Given the description of an element on the screen output the (x, y) to click on. 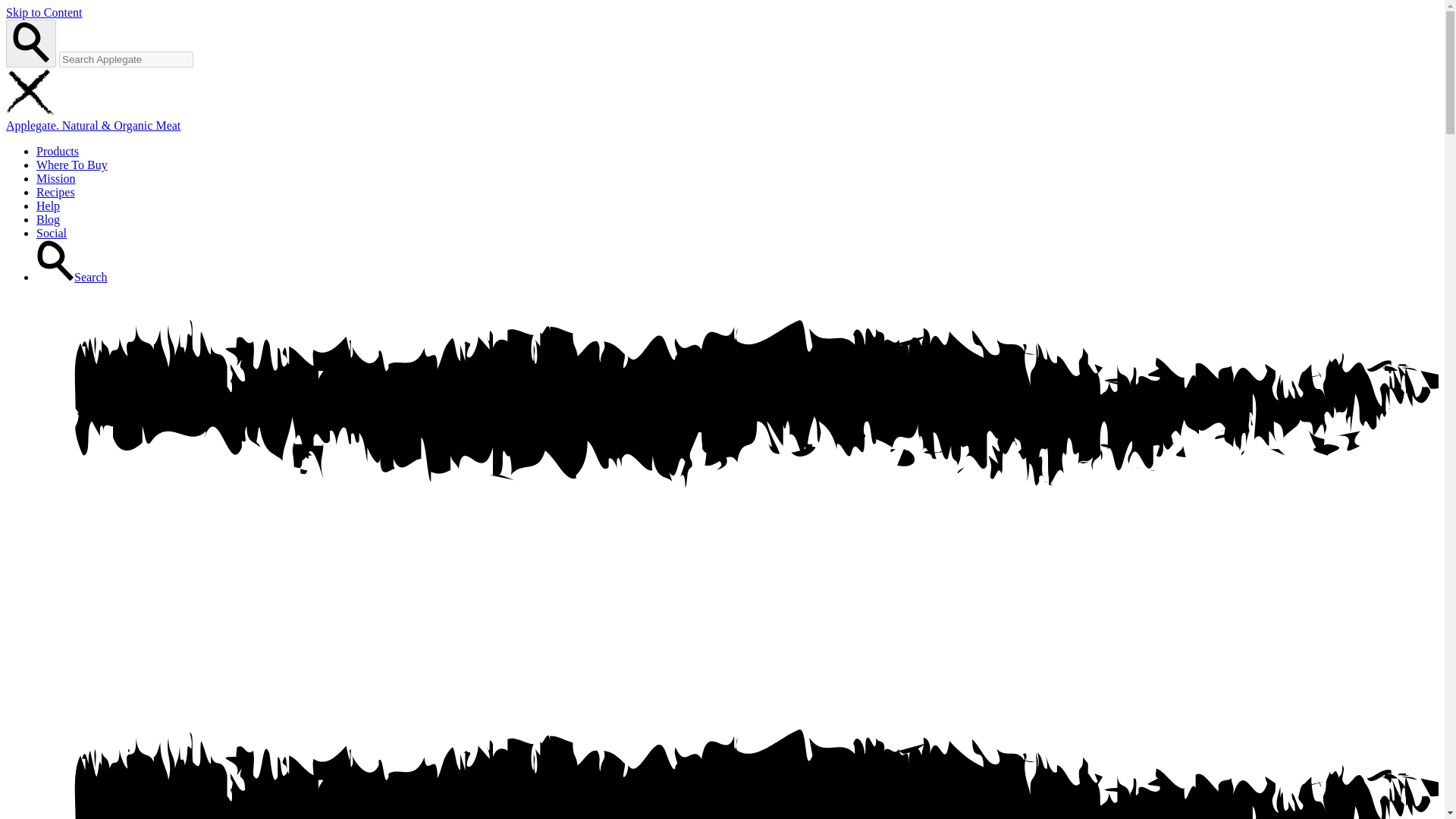
Social (51, 232)
Skip to Content (43, 11)
Search (71, 277)
Help (47, 205)
Where To Buy (71, 164)
Recipes (55, 192)
Products (57, 151)
Mission (55, 178)
Blog (47, 219)
